Given the description of an element on the screen output the (x, y) to click on. 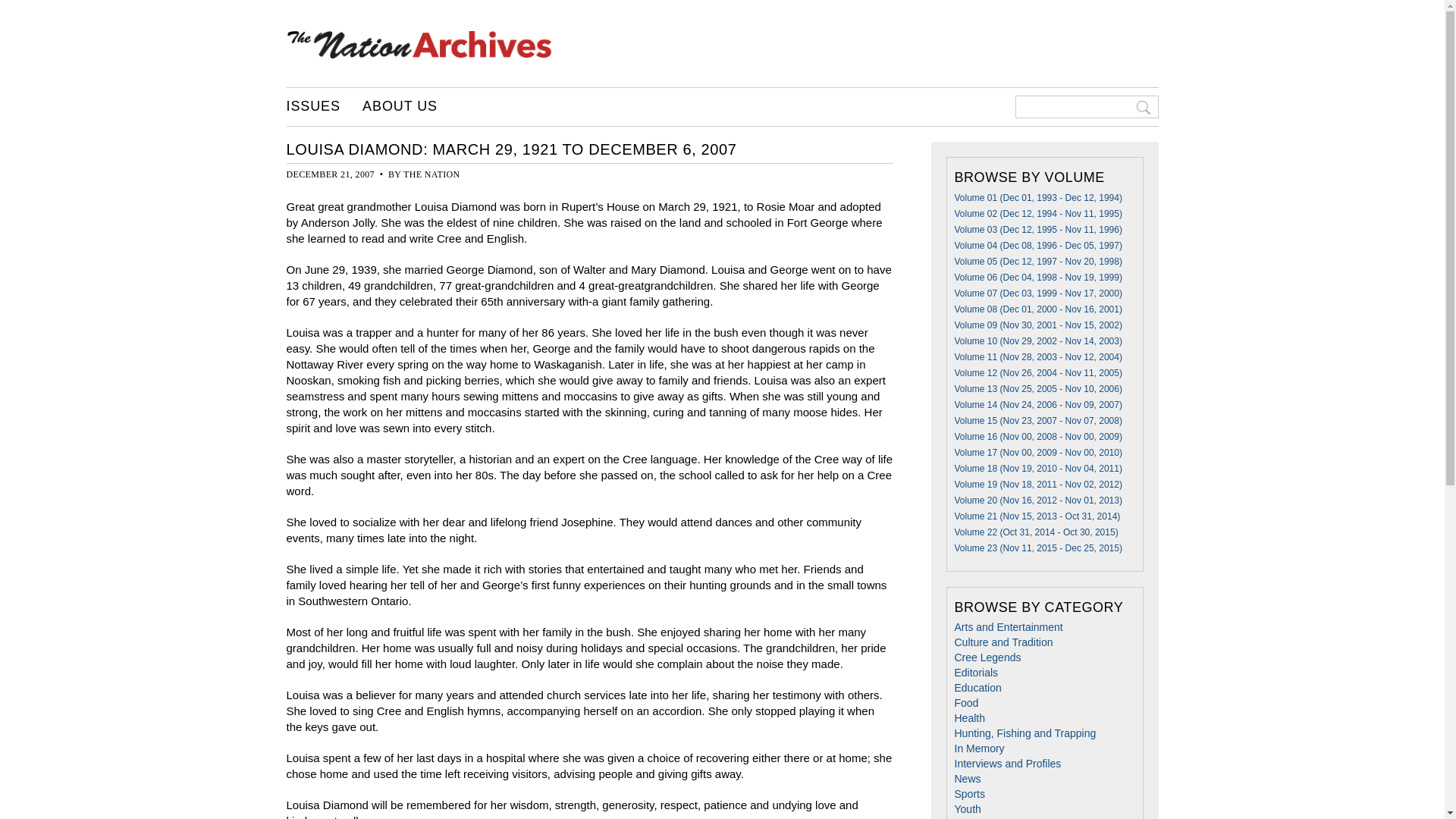
Editorials (975, 672)
Interviews and Profiles (1007, 763)
Culture and Tradition (1002, 642)
ISSUES (313, 106)
Food (965, 702)
Hunting, Fishing and Trapping (1024, 733)
Cree Legends (986, 657)
Health (968, 717)
Arts and Entertainment (1007, 626)
ABOUT US (400, 106)
In Memory (978, 748)
Education (977, 687)
